Given the description of an element on the screen output the (x, y) to click on. 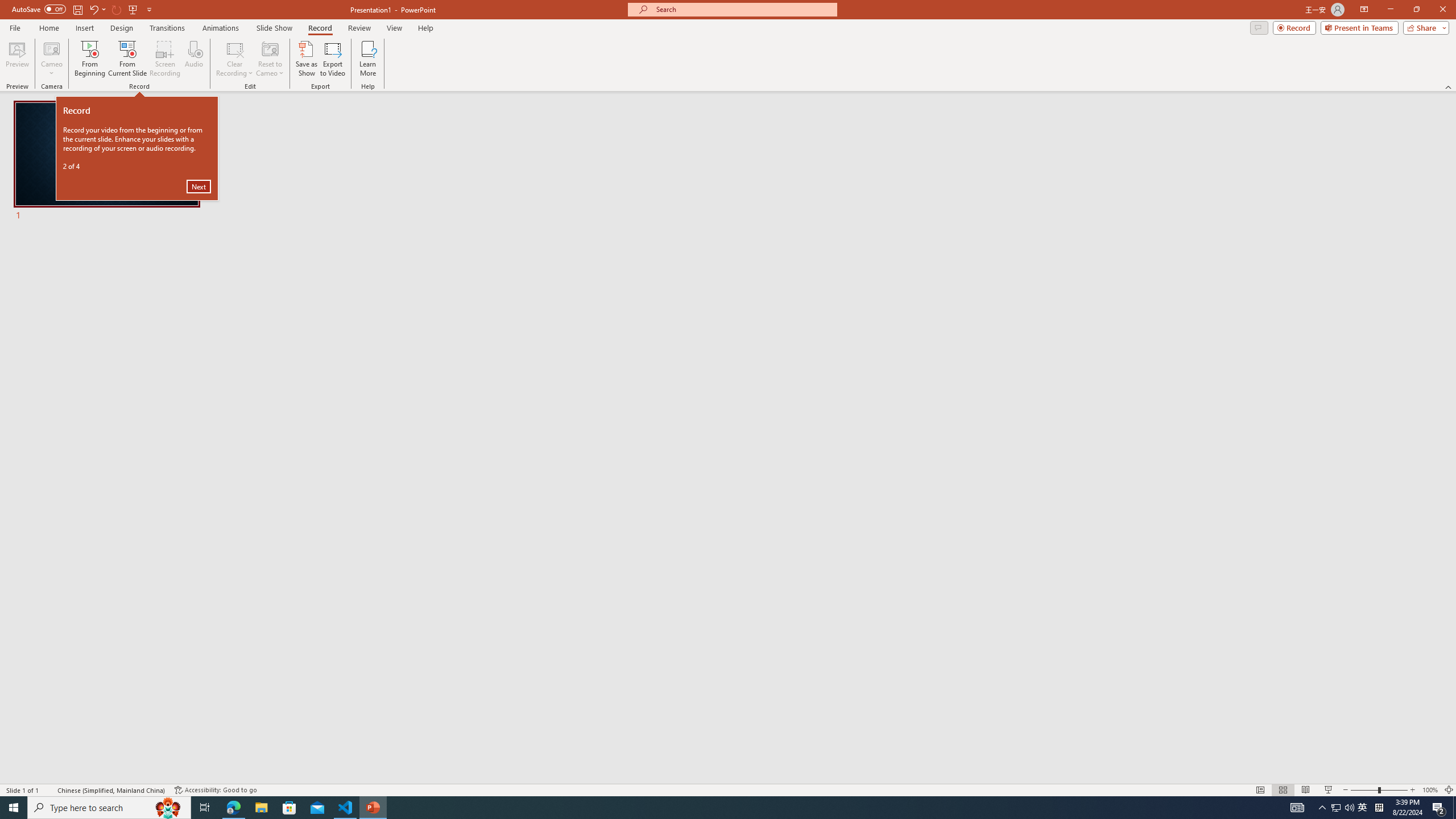
Comments (1259, 27)
Cameo (51, 58)
Audio (193, 58)
Running applications (707, 807)
Notification Chevron (1322, 807)
Search highlights icon opens search home window (167, 807)
Reading View (1305, 790)
Microsoft Store (1335, 807)
Insert (289, 807)
From Current Slide... (83, 28)
Ribbon Display Options (127, 58)
Accessibility Checker Accessibility: Good to go (1364, 9)
